Given the description of an element on the screen output the (x, y) to click on. 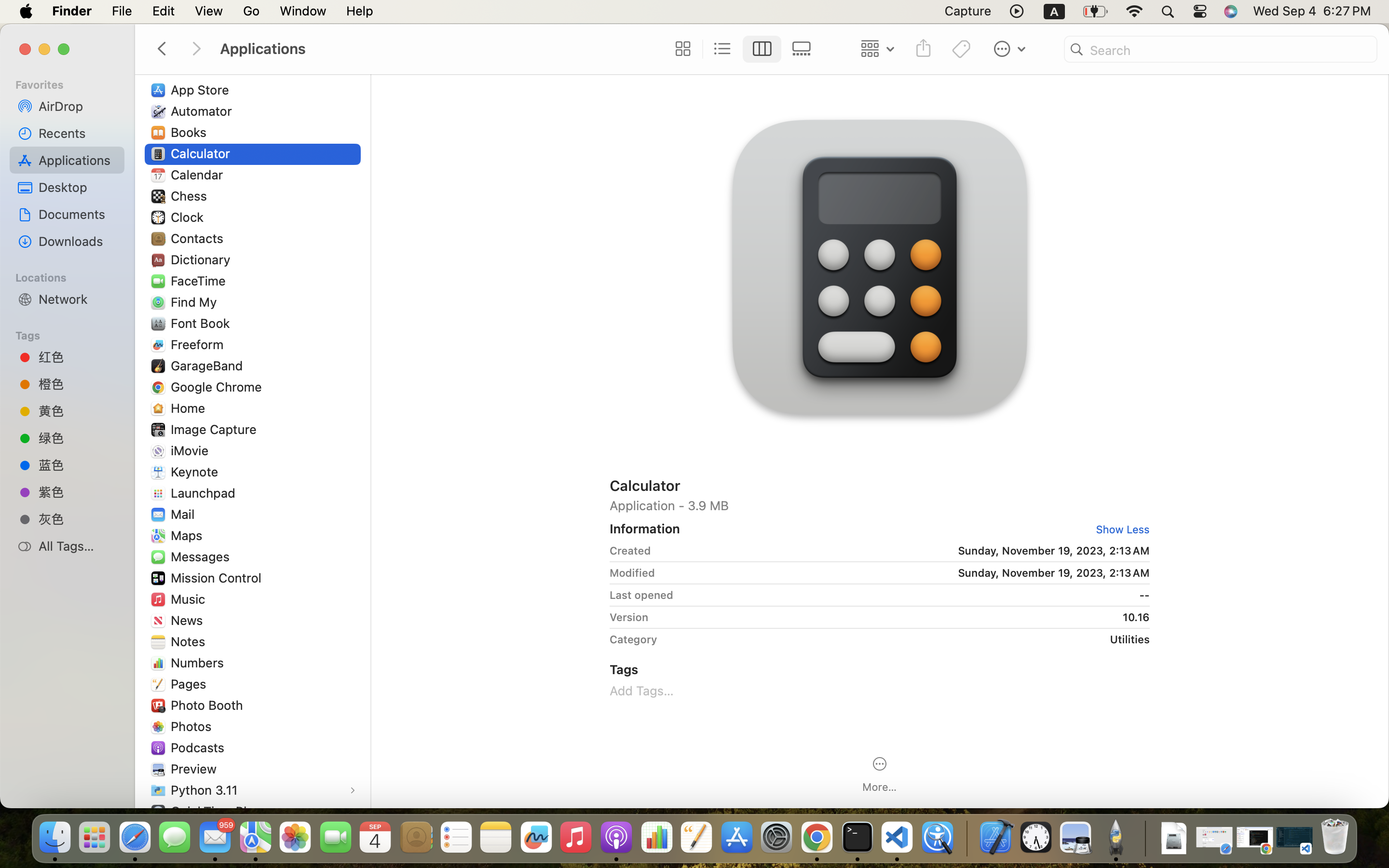
Messages Element type: AXTextField (201, 556)
Category Element type: AXStaticText (632, 639)
Dictionary Element type: AXTextField (202, 259)
Font Book Element type: AXTextField (202, 322)
Chess Element type: AXTextField (190, 195)
